Given the description of an element on the screen output the (x, y) to click on. 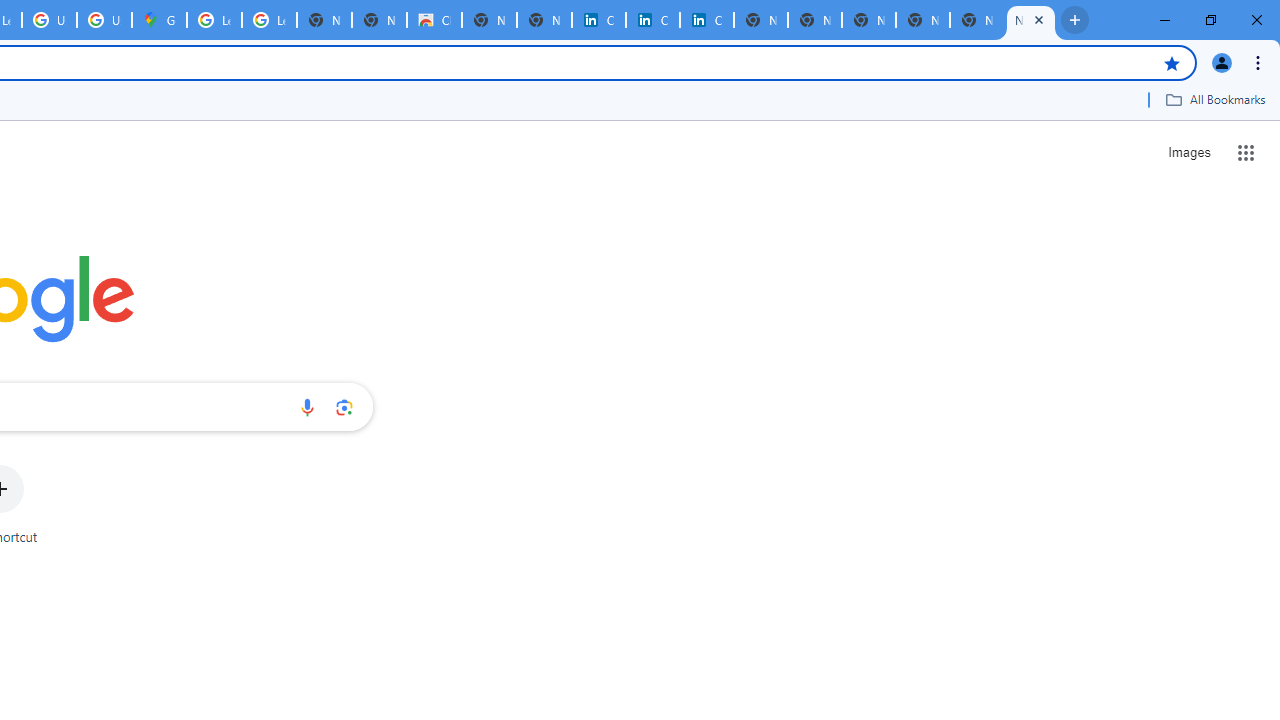
Cookie Policy | LinkedIn (598, 20)
New Tab (922, 20)
Copyright Policy (706, 20)
